Given the description of an element on the screen output the (x, y) to click on. 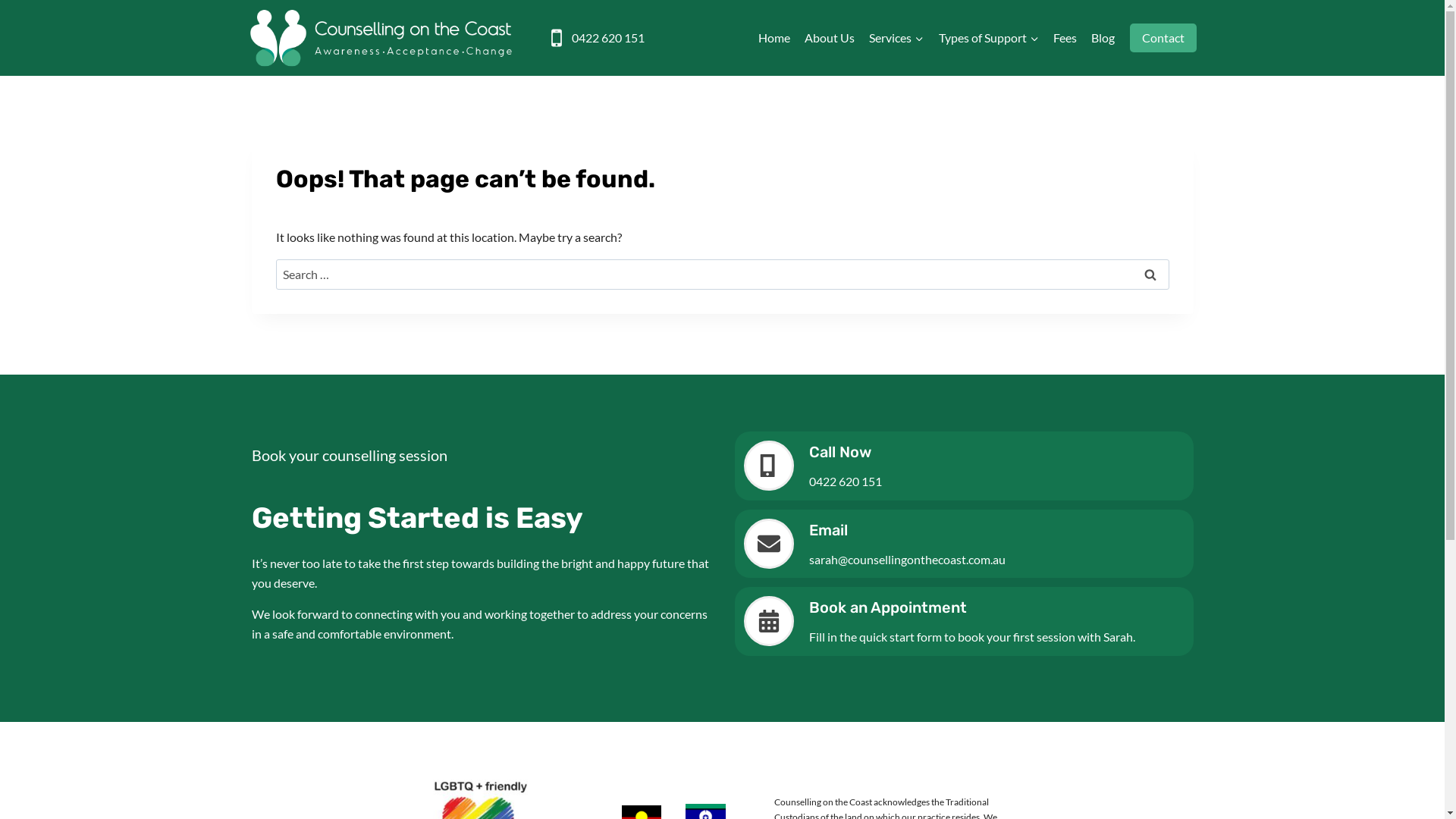
Home Element type: text (773, 38)
Search Element type: text (1150, 274)
About Us Element type: text (829, 38)
Types of Support Element type: text (988, 38)
Blog Element type: text (1102, 38)
Fees Element type: text (1064, 38)
Call Now
0422 620 151 Element type: text (963, 465)
Services Element type: text (896, 38)
Contact Element type: text (1162, 37)
0422 620 151 Element type: text (594, 37)
Email
sarah@counsellingonthecoast.com.au Element type: text (963, 543)
